Given the description of an element on the screen output the (x, y) to click on. 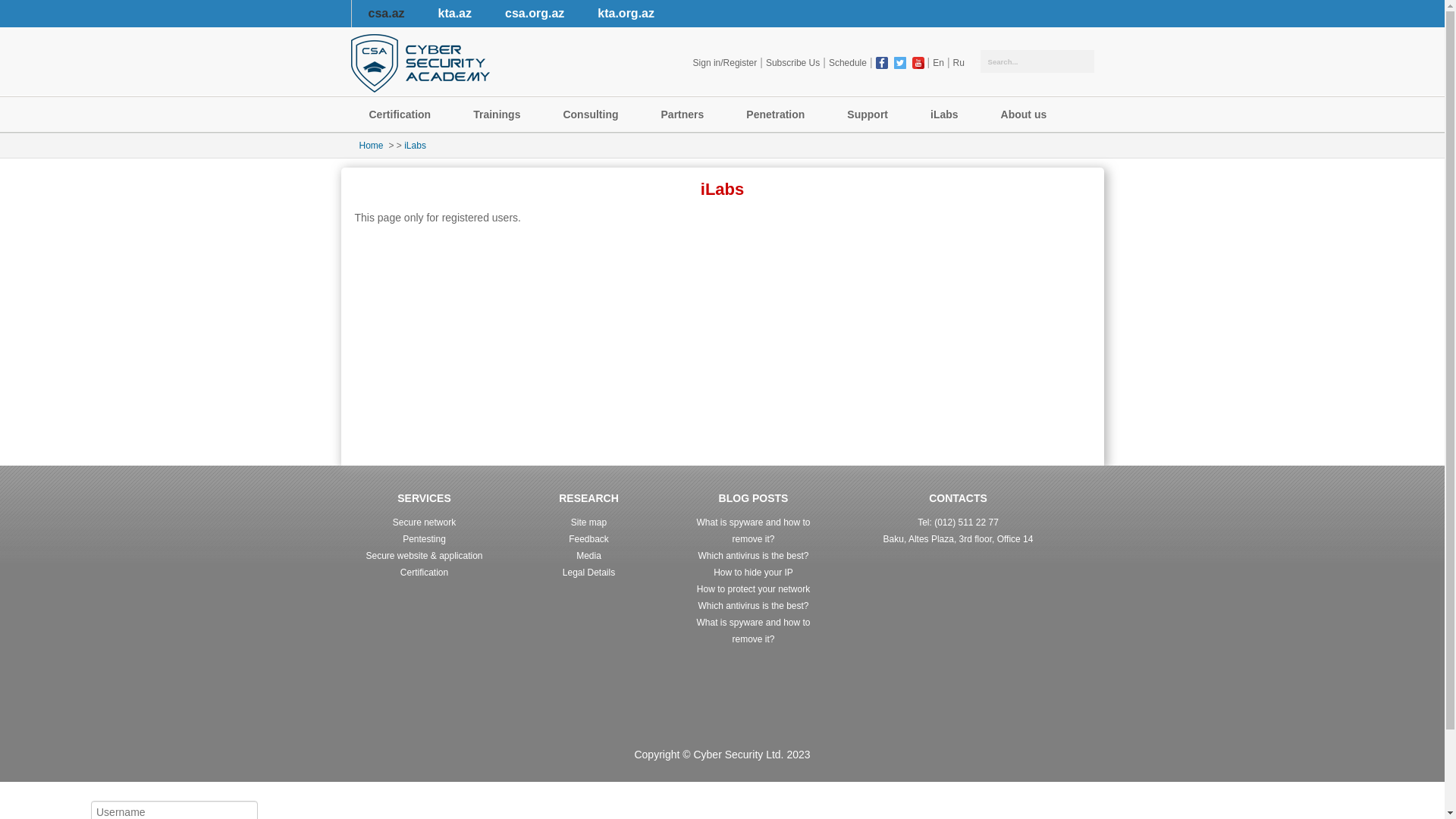
About us Element type: text (1026, 114)
Secure website & application Element type: text (423, 555)
Legal Details Element type: text (588, 572)
What is spyware and how to remove it? Element type: text (752, 630)
Site map Element type: text (588, 522)
Secure network Element type: text (423, 522)
iLabs Element type: text (947, 114)
csa.org.az Element type: text (534, 13)
Baku, Altes Plaza, 3rd floor, Office 14 Element type: text (958, 538)
How to hide your IP Element type: text (753, 572)
Which antivirus is the best? Element type: text (752, 605)
Sign in/Register Element type: text (725, 62)
Cyber Security Academy Element type: hover (419, 63)
Tel: (012) 511 22 77 Element type: text (957, 522)
Media Element type: text (588, 555)
Feedback Element type: text (588, 538)
iLabs Element type: text (415, 145)
En Element type: text (938, 62)
Penetration Element type: text (778, 114)
Pentesting Element type: text (423, 538)
Partners Element type: text (685, 114)
Consulting Element type: text (593, 114)
csa.az Element type: text (385, 13)
How to protect your network Element type: text (752, 588)
Certification Element type: text (402, 114)
Ru Element type: text (958, 62)
What is spyware and how to remove it? Element type: text (752, 530)
kta.org.az Element type: text (625, 13)
Schedule Element type: text (847, 62)
Certification Element type: text (424, 572)
Which antivirus is the best? Element type: text (752, 555)
Support Element type: text (870, 114)
Home Element type: text (371, 145)
Subscribe Us Element type: text (792, 62)
kta.az Element type: text (454, 13)
Trainings Element type: text (499, 114)
